Given the description of an element on the screen output the (x, y) to click on. 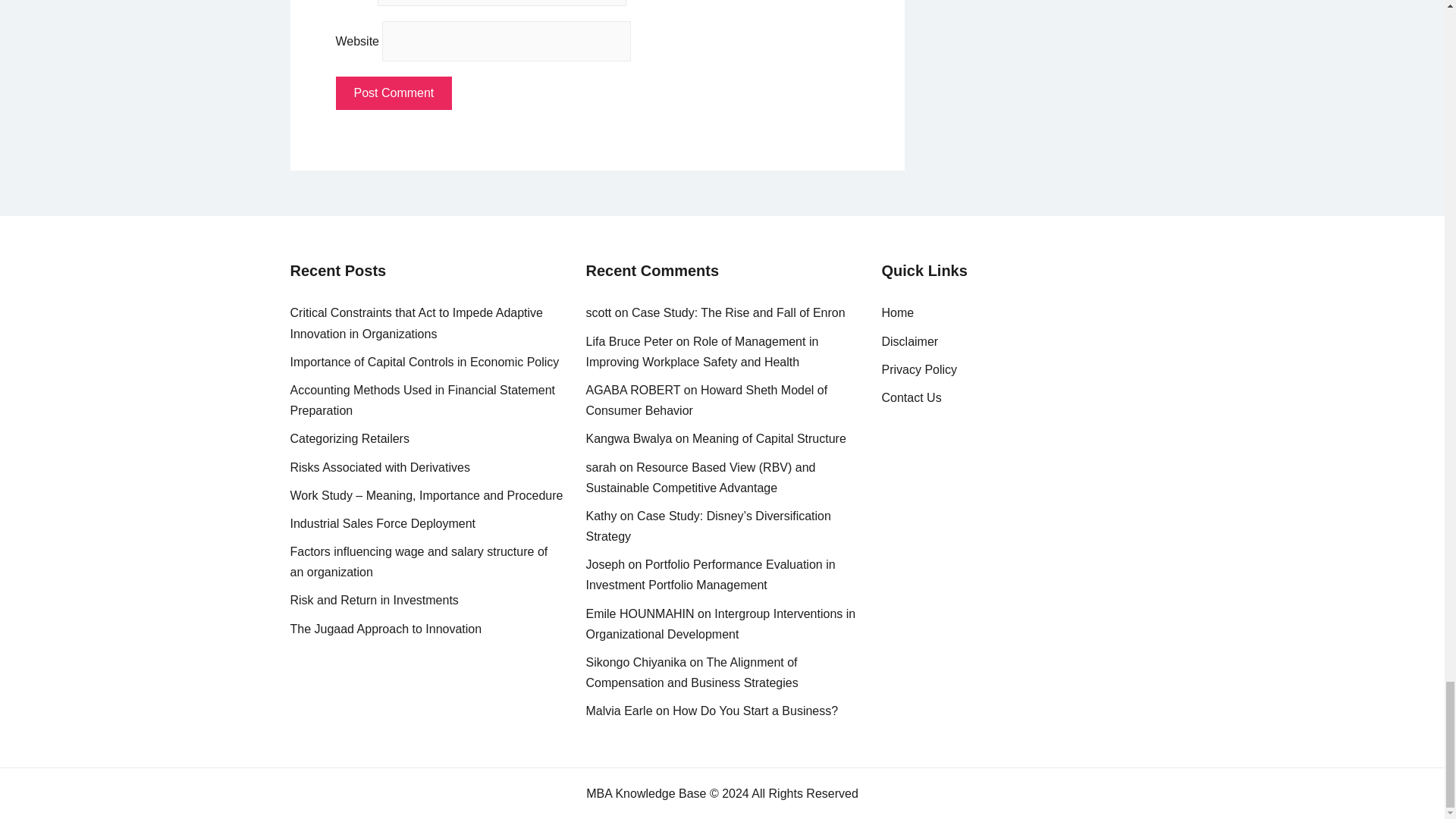
Post Comment (392, 92)
Post Comment (392, 92)
